Given the description of an element on the screen output the (x, y) to click on. 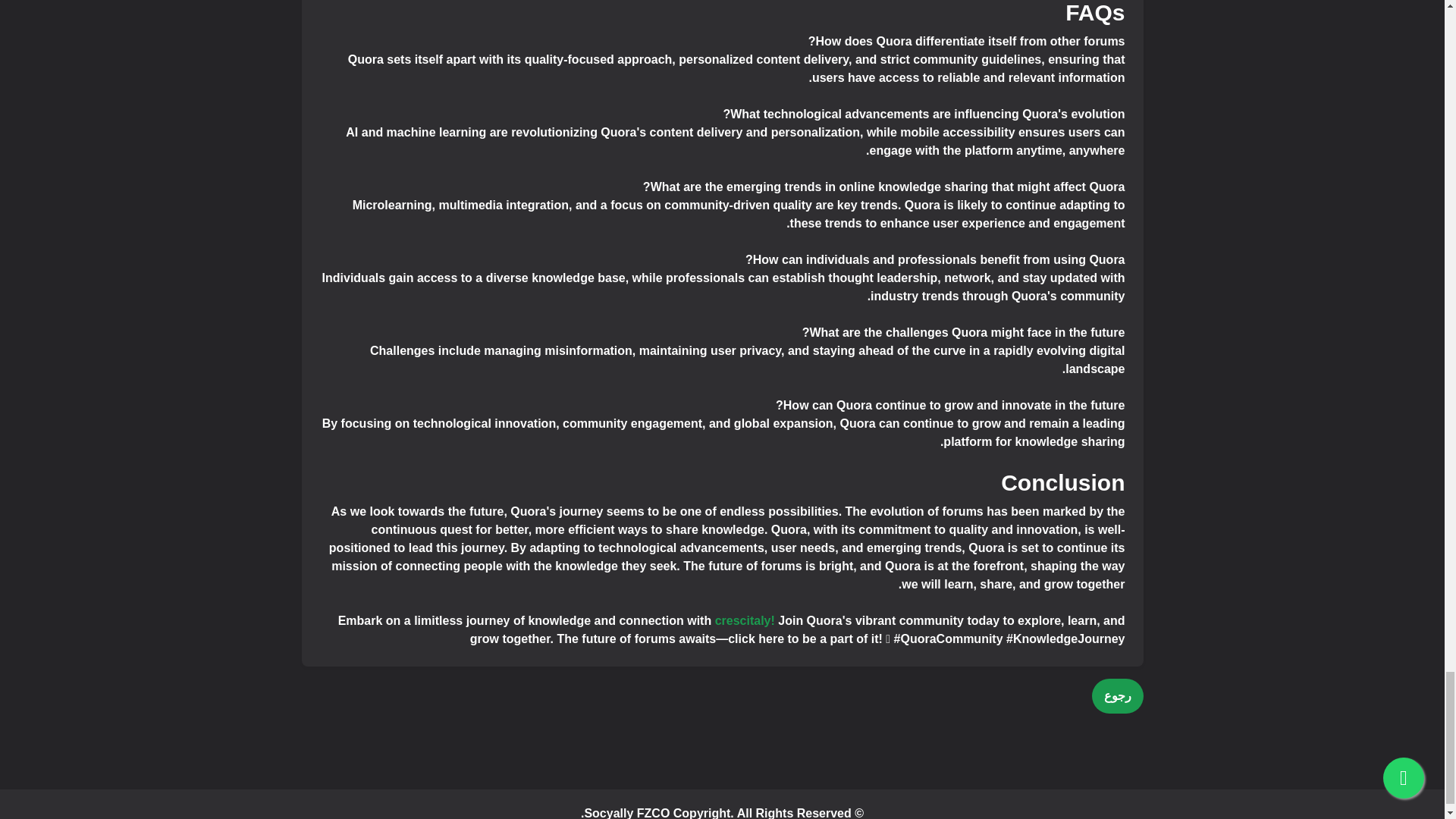
crescitaly! (744, 620)
